Given the description of an element on the screen output the (x, y) to click on. 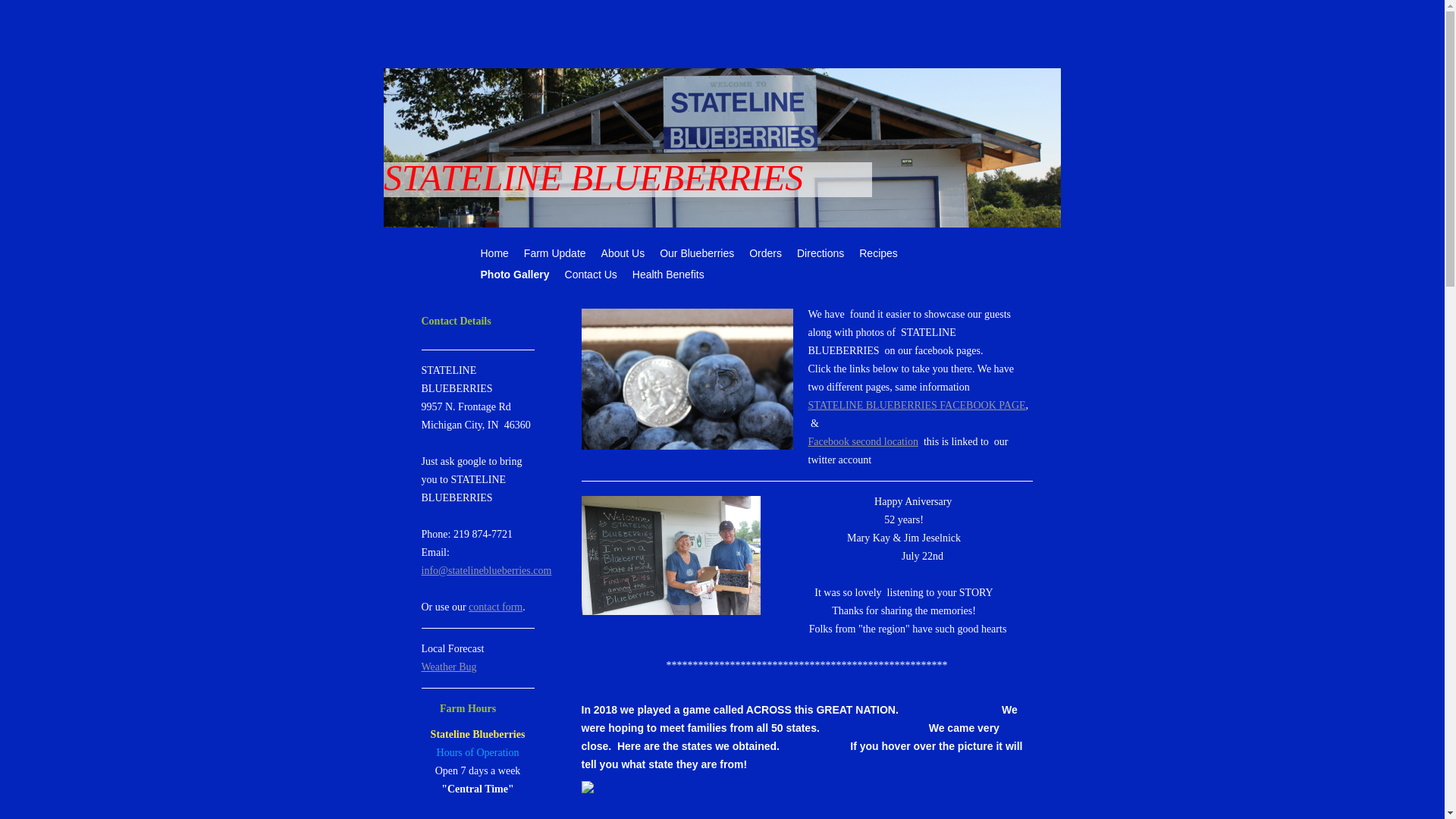
Photo Gallery (515, 275)
  STATELINE BLUEBERRIES                     (602, 154)
Home (494, 254)
Our Blueberries (696, 254)
Health Benefits (667, 275)
Orders (765, 254)
Farm Update (555, 254)
Directions (820, 254)
Contact Us (590, 275)
STATELINE BLUEBERRIES FACEBOOK PAGE (917, 405)
